Given the description of an element on the screen output the (x, y) to click on. 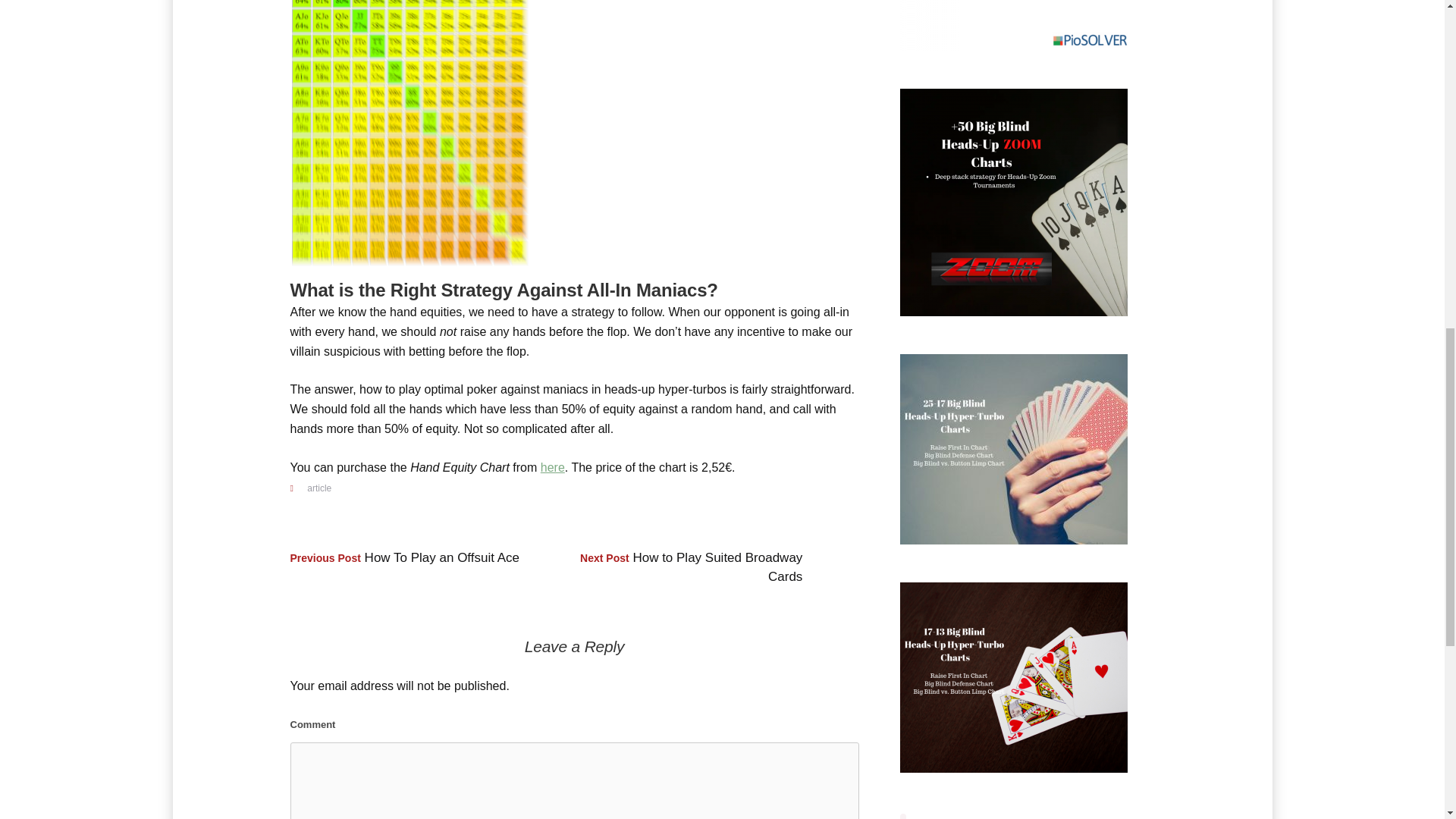
Next Post How to Play Suited Broadway Cards (690, 566)
here (552, 467)
Previous Post How To Play an Offsuit Ace (404, 557)
article (319, 488)
